Given the description of an element on the screen output the (x, y) to click on. 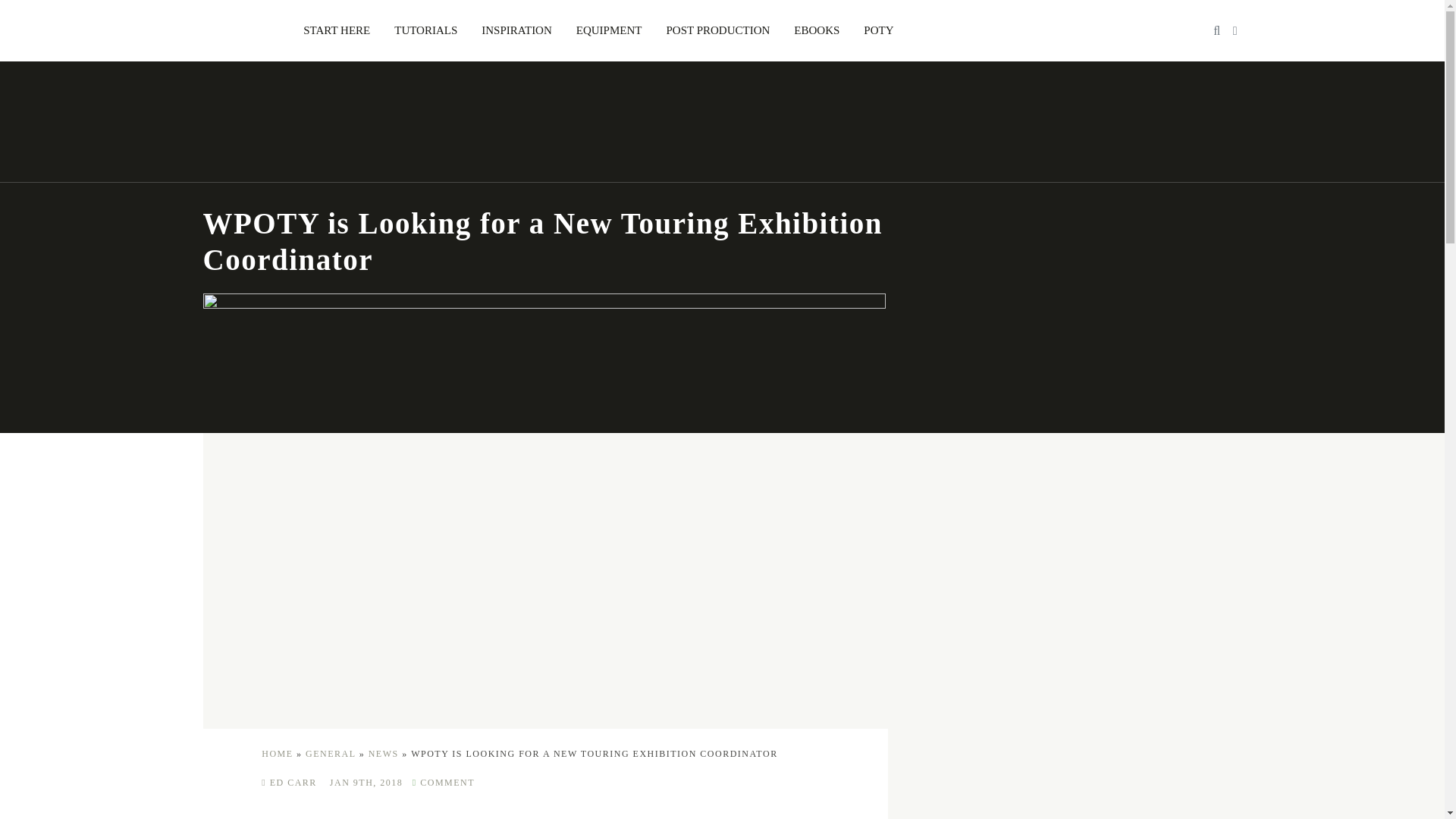
TUTORIALS (424, 30)
START HERE (336, 30)
